Given the description of an element on the screen output the (x, y) to click on. 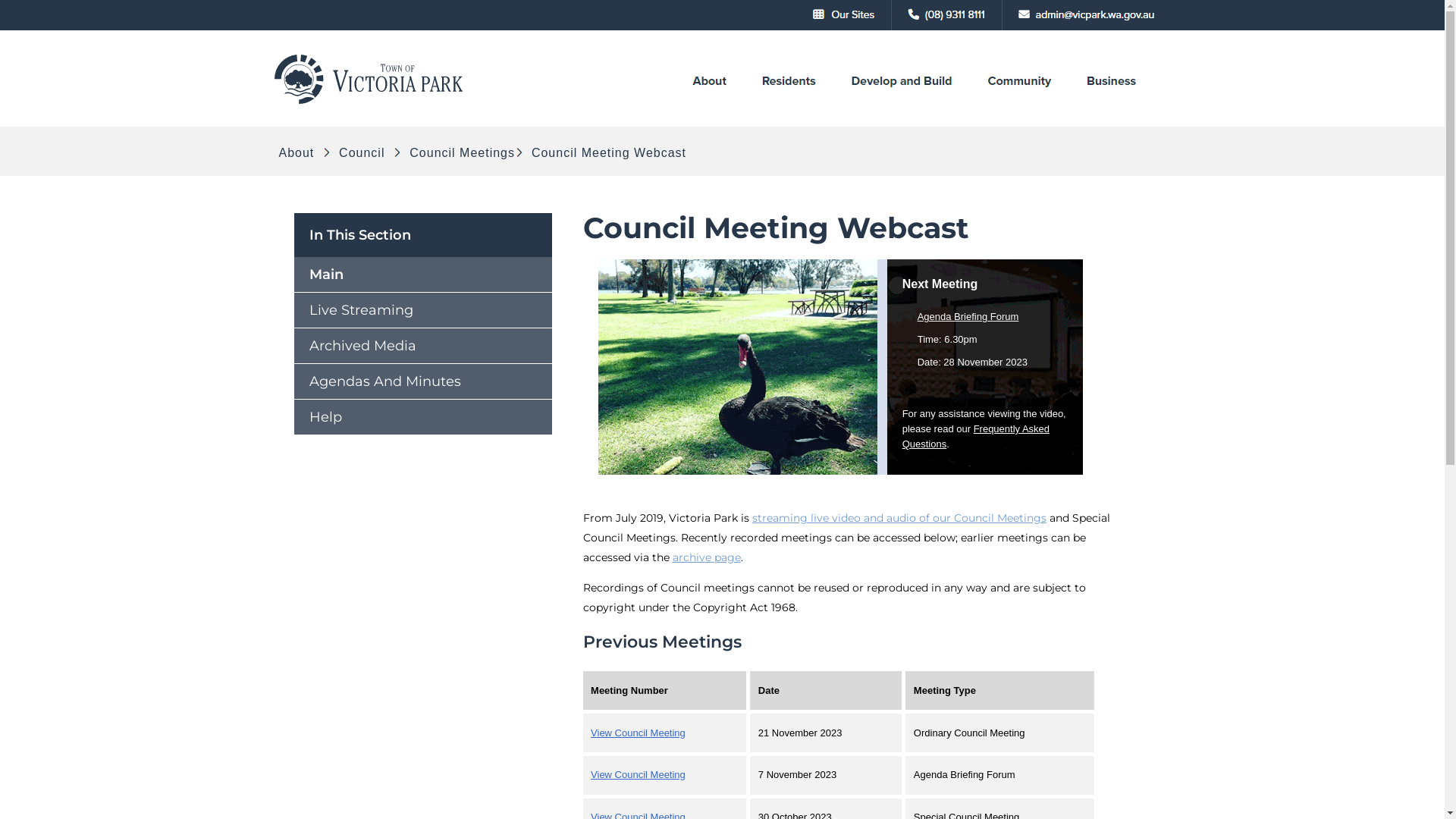
View Council Meeting Element type: text (637, 732)
About Element type: text (298, 152)
Business Element type: hover (1110, 103)
Council Element type: text (362, 152)
Frequently Asked Questions Element type: text (975, 436)
About Element type: hover (709, 103)
Residents Element type: hover (787, 103)
Council Meetings Element type: text (459, 152)
Agendas And Minutes Element type: text (423, 381)
Main Element type: text (423, 274)
Archived Media Element type: text (423, 345)
Help Element type: text (423, 416)
streaming live video and audio of our Council Meetings Element type: text (899, 517)
archive page Element type: text (706, 557)
Home Element type: hover (369, 103)
Agenda Briefing Forum Element type: text (968, 316)
Community Element type: hover (1018, 103)
Develop and Build Element type: hover (900, 103)
View Council Meeting Element type: text (637, 774)
Live Streaming Element type: text (423, 309)
